Given the description of an element on the screen output the (x, y) to click on. 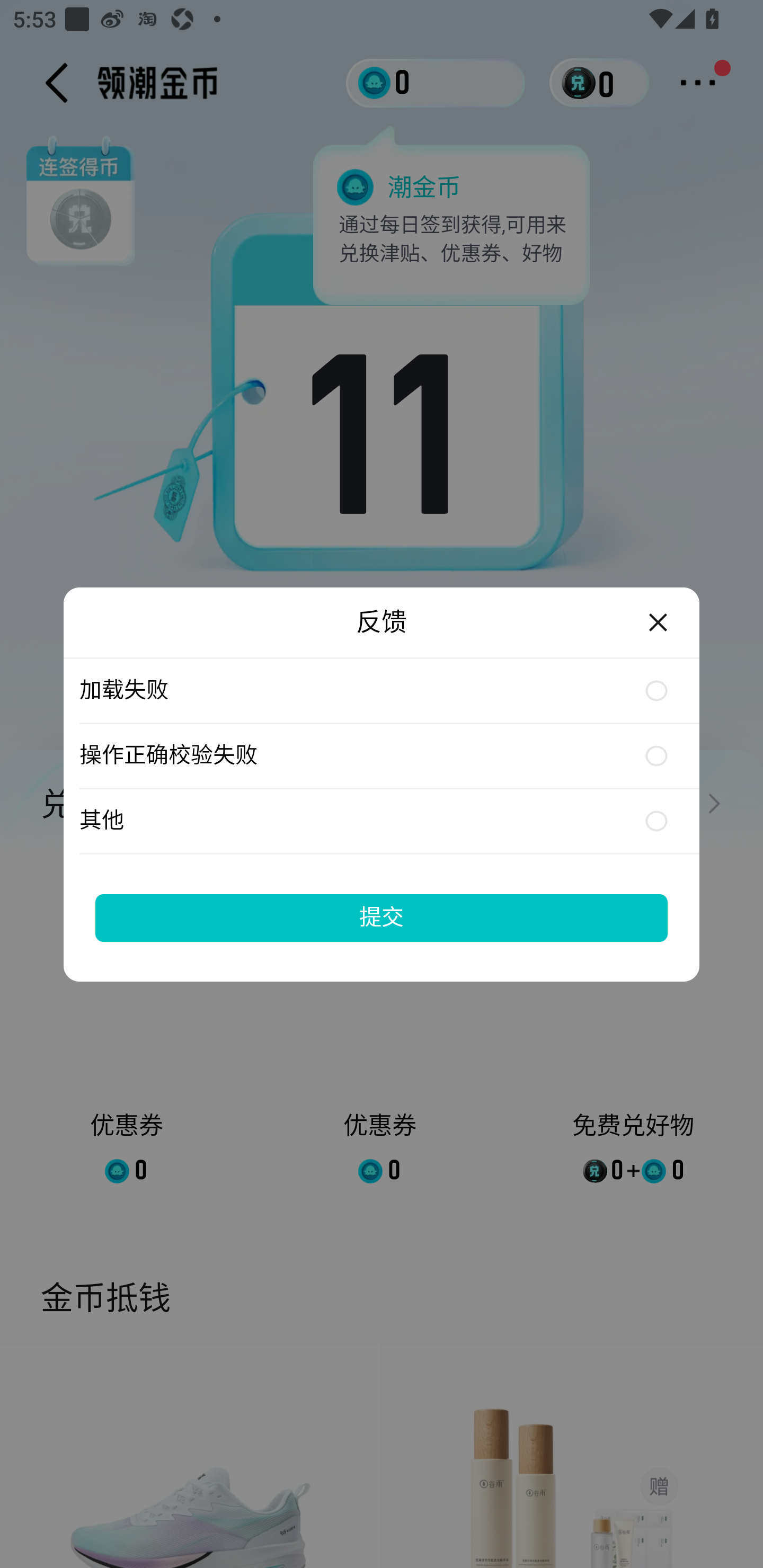
提交 (381, 917)
